Given the description of an element on the screen output the (x, y) to click on. 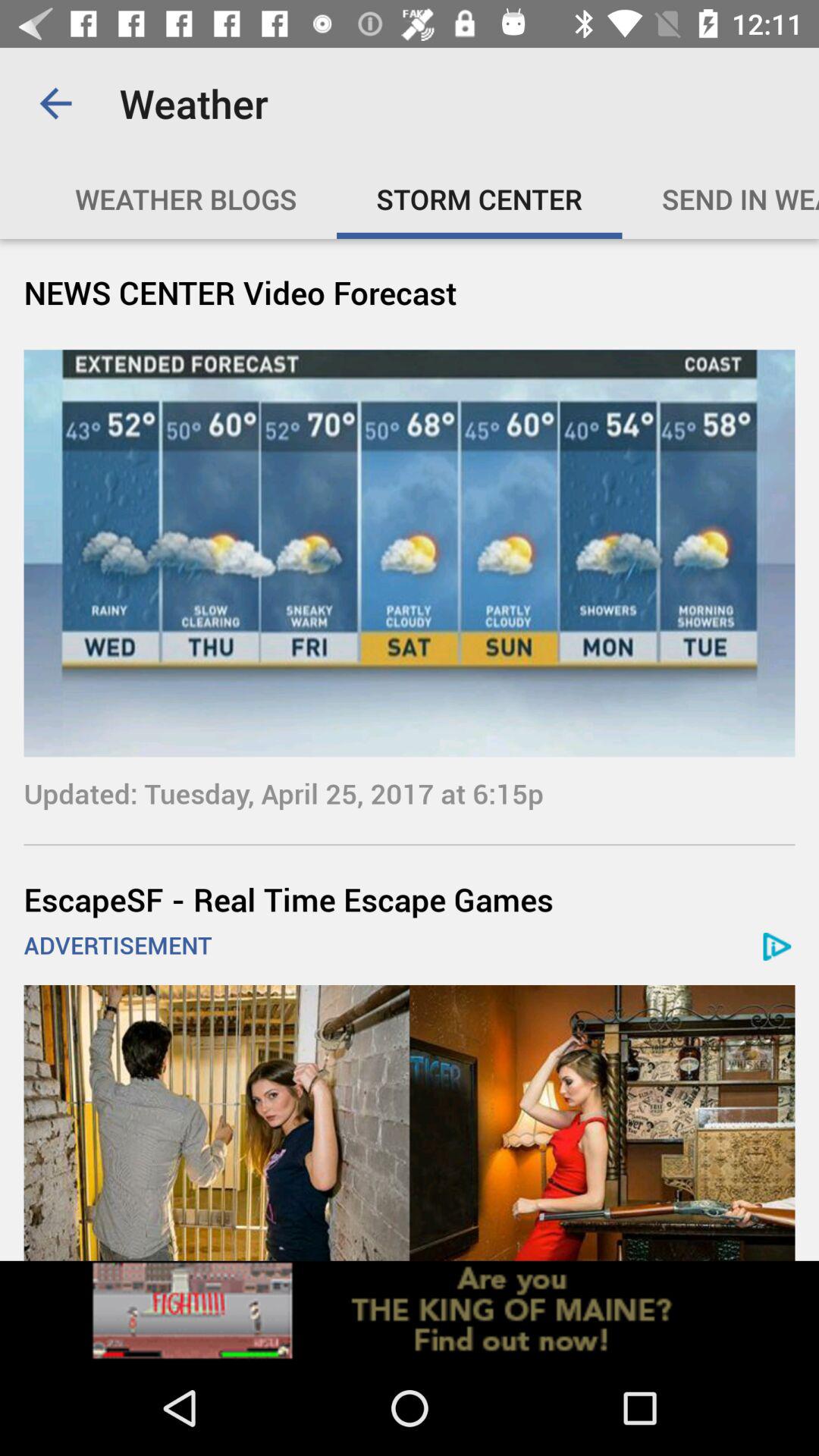
bottom advertisement (409, 1122)
